Given the description of an element on the screen output the (x, y) to click on. 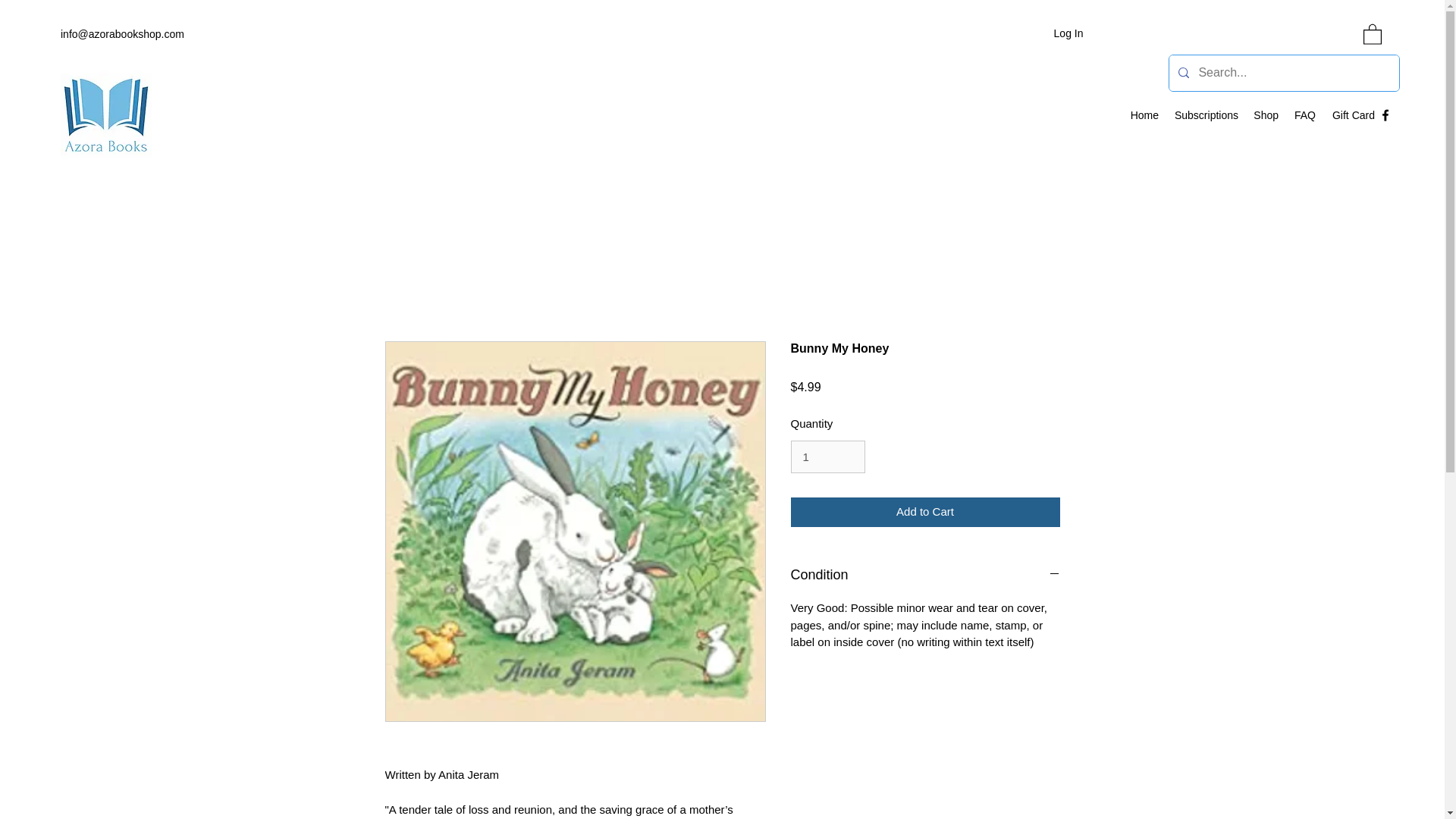
Home (1144, 115)
Log In (1068, 33)
Condition (924, 575)
Gift Card (1352, 115)
Shop (1265, 115)
Add to Cart (924, 512)
FAQ (1304, 115)
1 (827, 457)
Subscriptions (1206, 115)
Smile.io Rewards Program Launcher (69, 780)
